Given the description of an element on the screen output the (x, y) to click on. 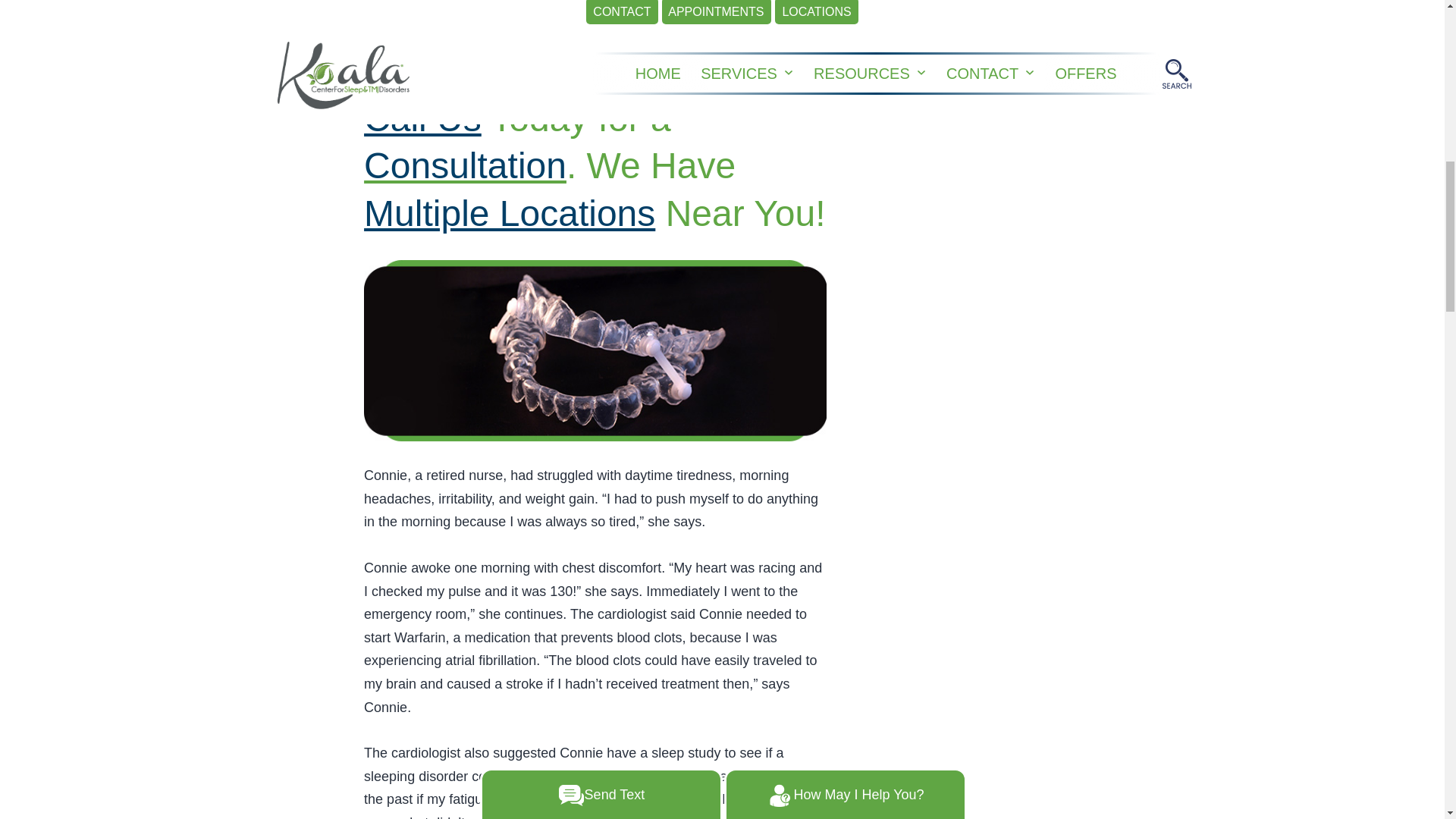
Oral Appliance Sleep Apnea Treatment Changed My Life (595, 350)
